Given the description of an element on the screen output the (x, y) to click on. 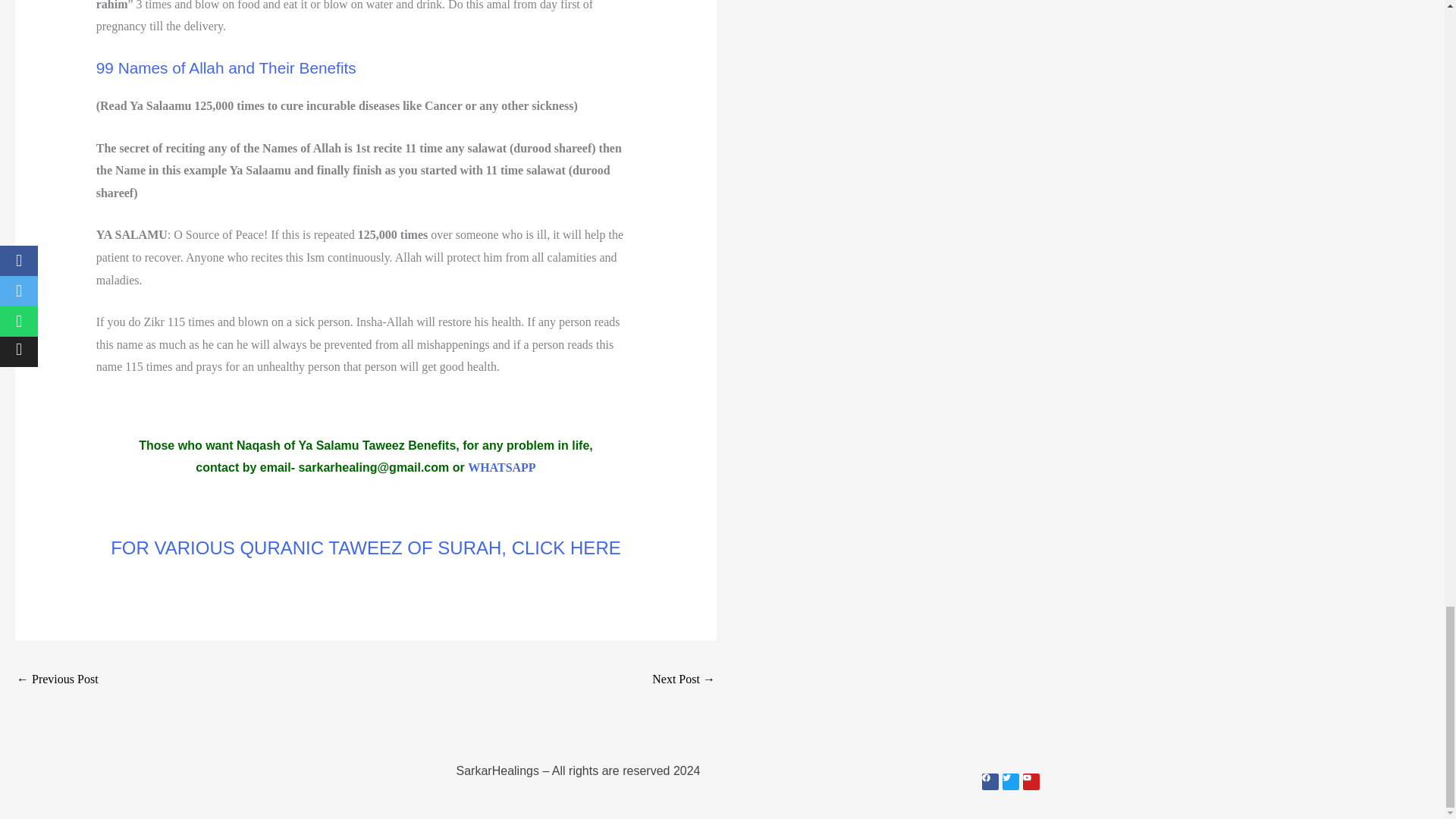
99 Names of Allah and Their Benefits (226, 67)
Youtube (1030, 781)
Twitter (1011, 781)
FOR VARIOUS QURANIC TAWEEZ OF SURAH, CLICK HERE (365, 547)
Ya Mutakabbir Wazifa Benefits of Zikrullah (683, 680)
Benefits of Zikrullah Ya Azizu Wazifa (57, 680)
Facebook (989, 781)
WHATSAPP (501, 467)
